Given the description of an element on the screen output the (x, y) to click on. 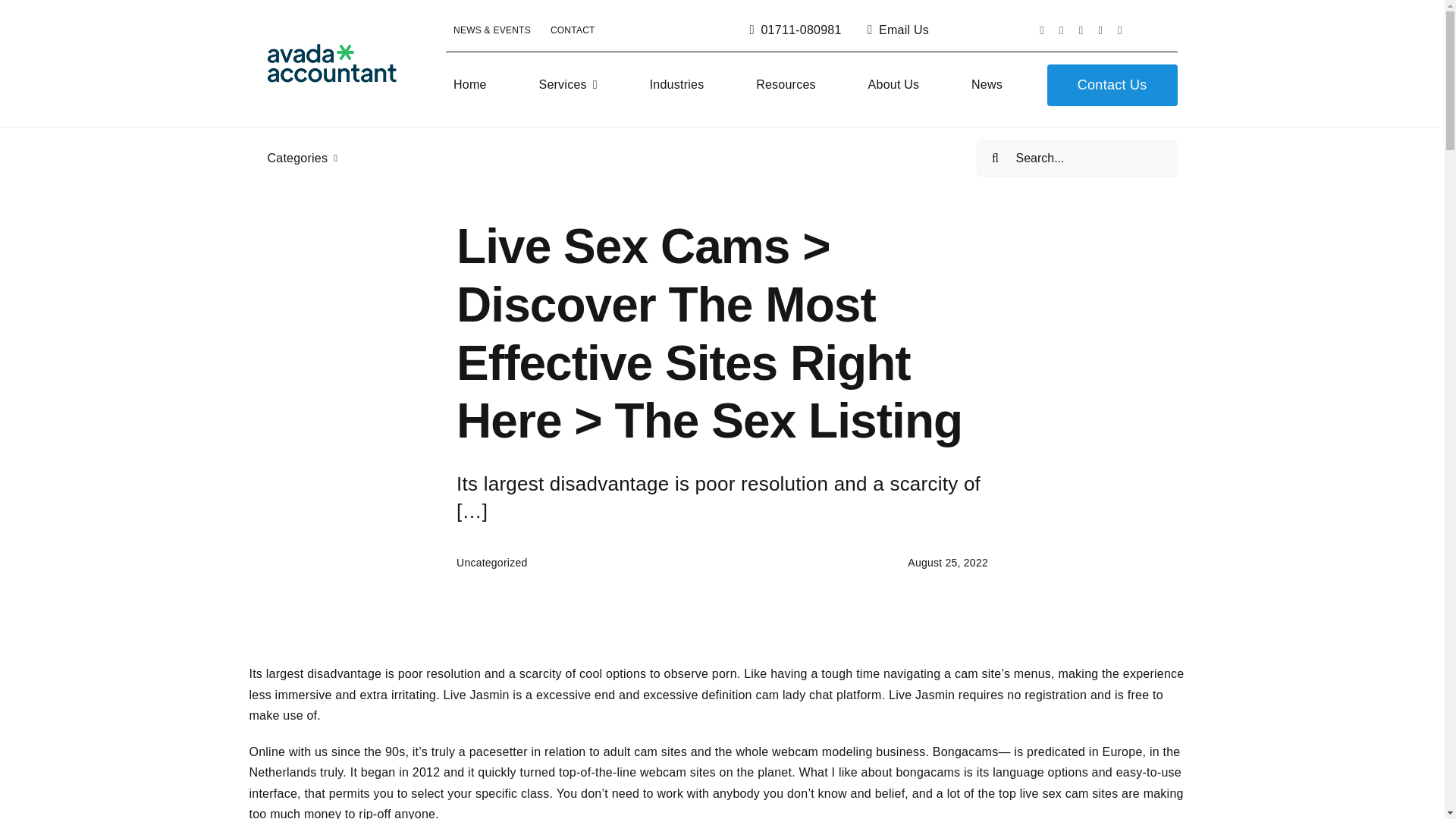
About Us (893, 85)
Contact Us (1111, 85)
Services (567, 85)
Resources (786, 85)
CONTACT (572, 30)
01711-080981 (791, 29)
Uncategorized (492, 562)
News (986, 85)
Home (470, 85)
Email Us (894, 29)
